Given the description of an element on the screen output the (x, y) to click on. 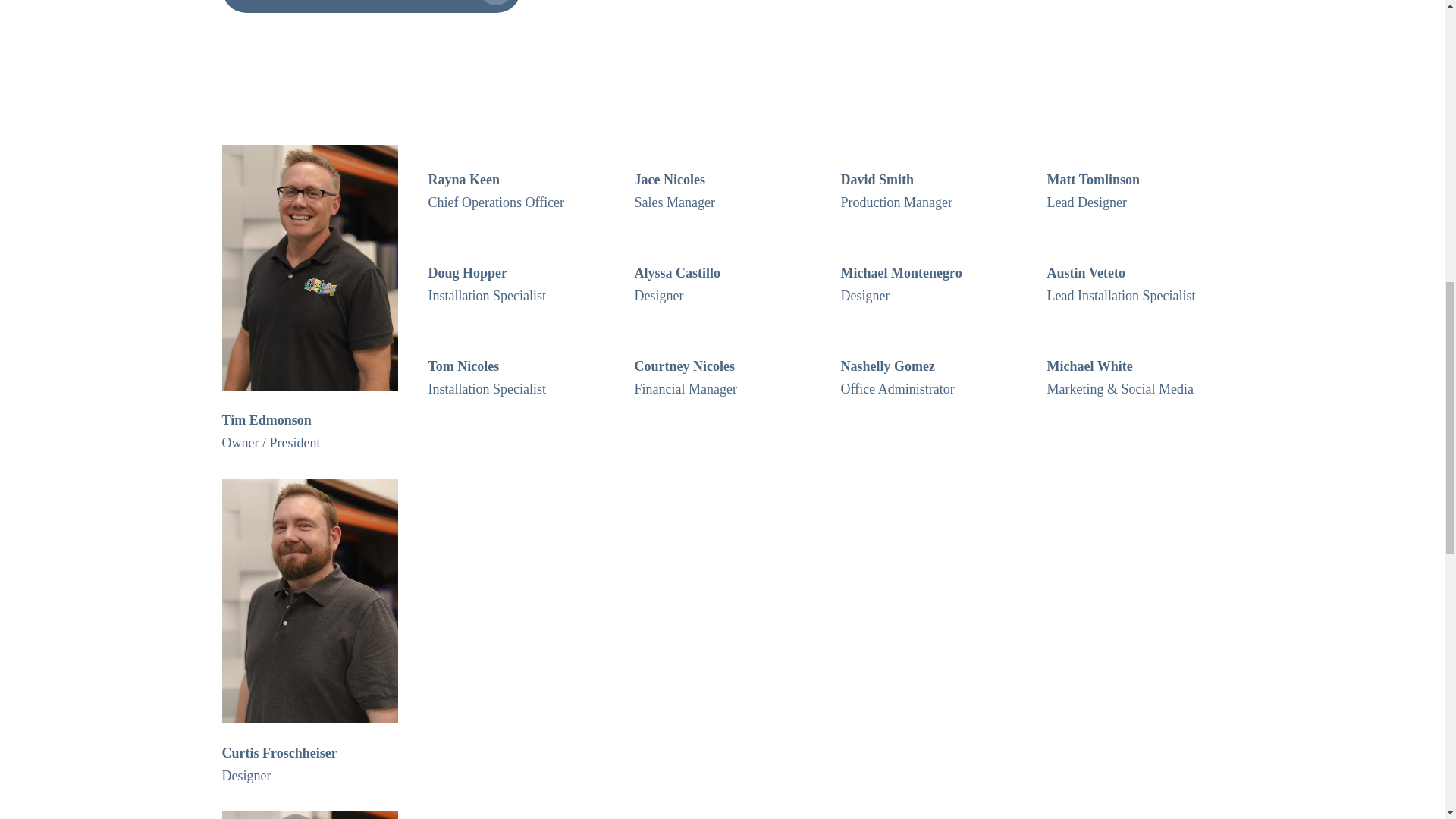
CLICK HERE TO GET STARTED (370, 6)
Zachary King (309, 815)
